Given the description of an element on the screen output the (x, y) to click on. 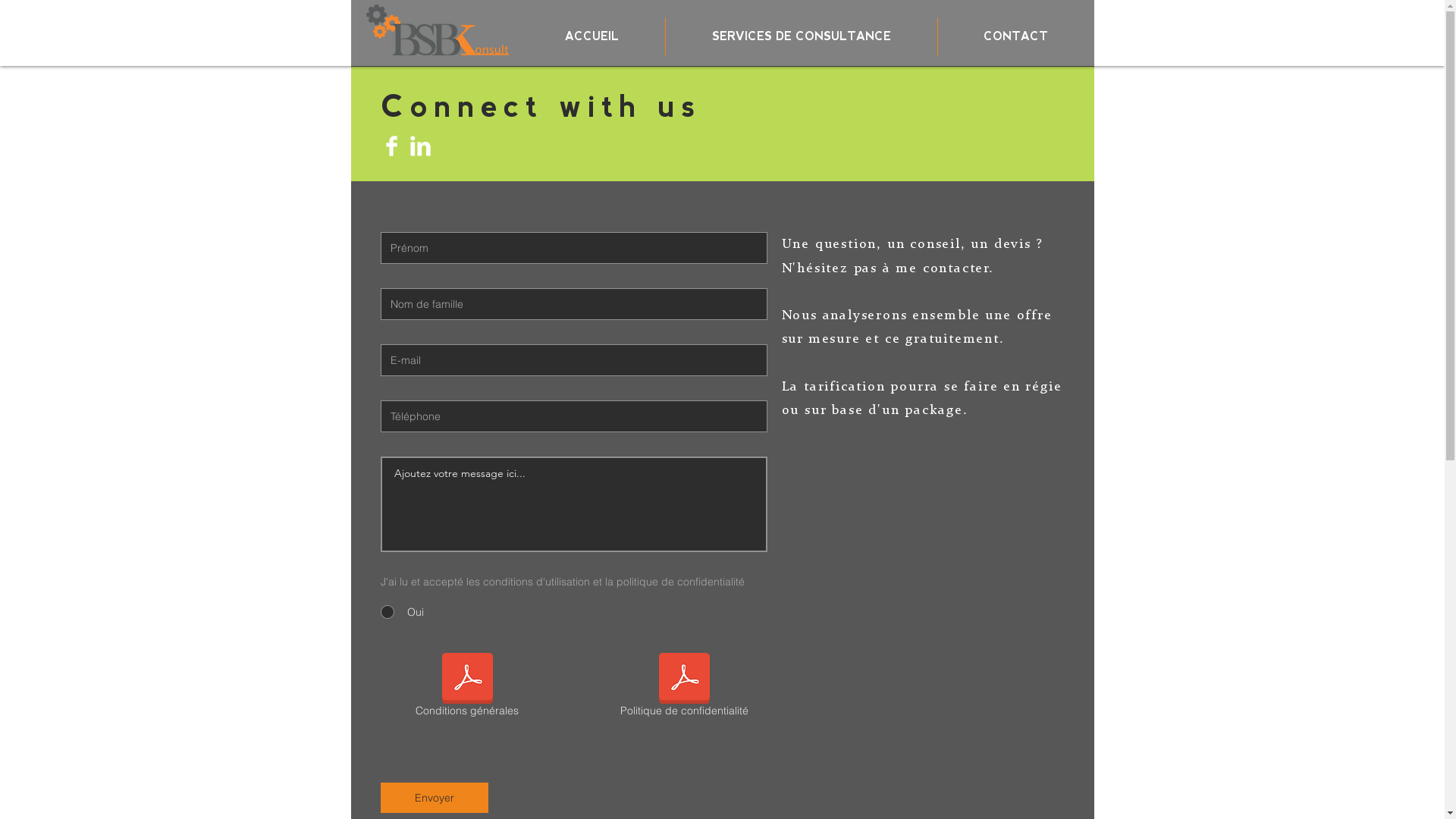
Envoyer Element type: text (434, 797)
Logo_bsbkonsult-trans.png Element type: hover (438, 27)
ACCUEIL Element type: text (591, 36)
